Given the description of an element on the screen output the (x, y) to click on. 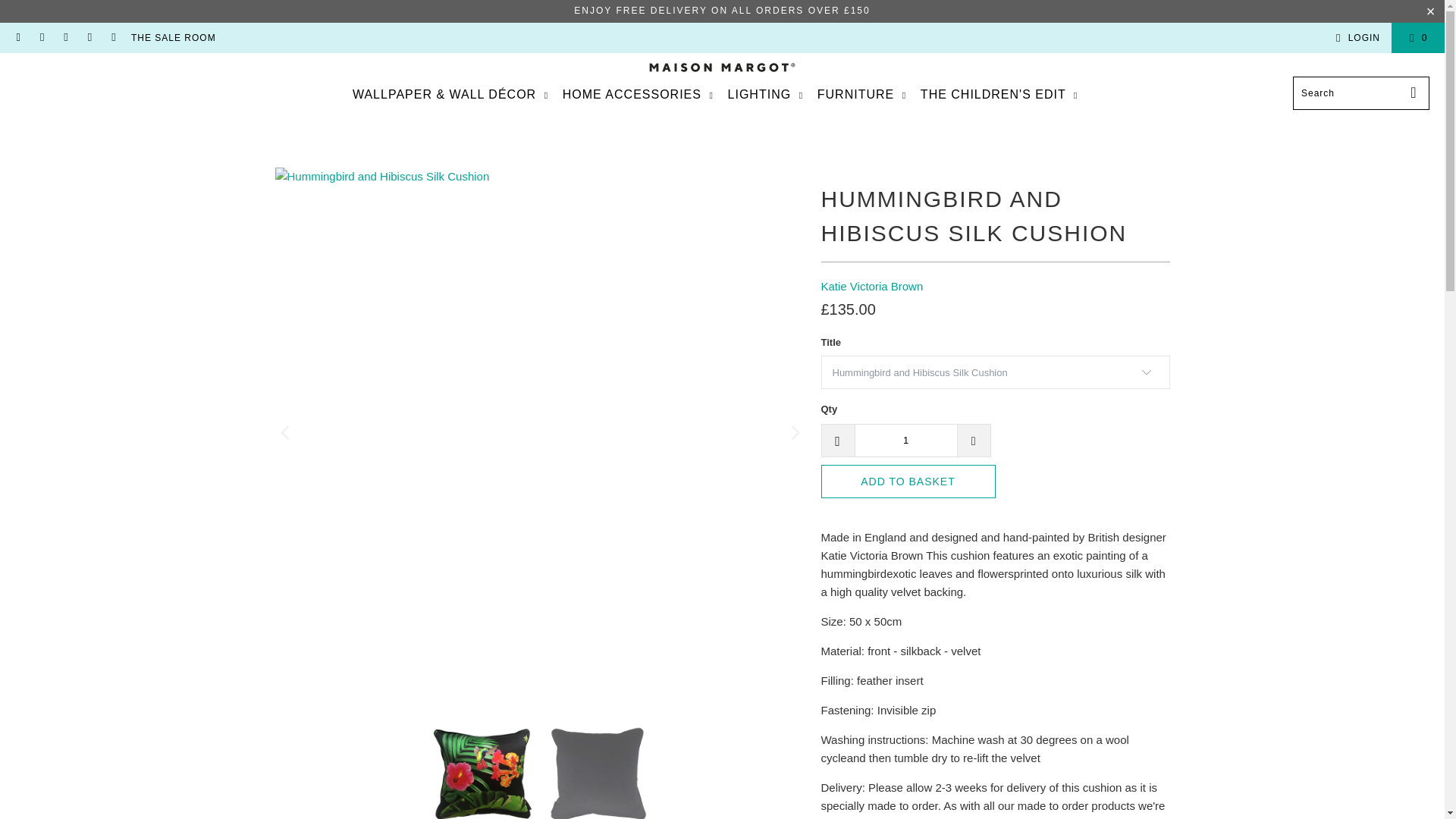
Maison Margot (722, 68)
Maison Margot on Pinterest (89, 37)
Maison Margot on Twitter (112, 37)
Maison Margot on Instagram (65, 37)
My Account  (1355, 37)
1 (904, 439)
Email Maison Margot (17, 37)
Maison Margot on Facebook (41, 37)
